Given the description of an element on the screen output the (x, y) to click on. 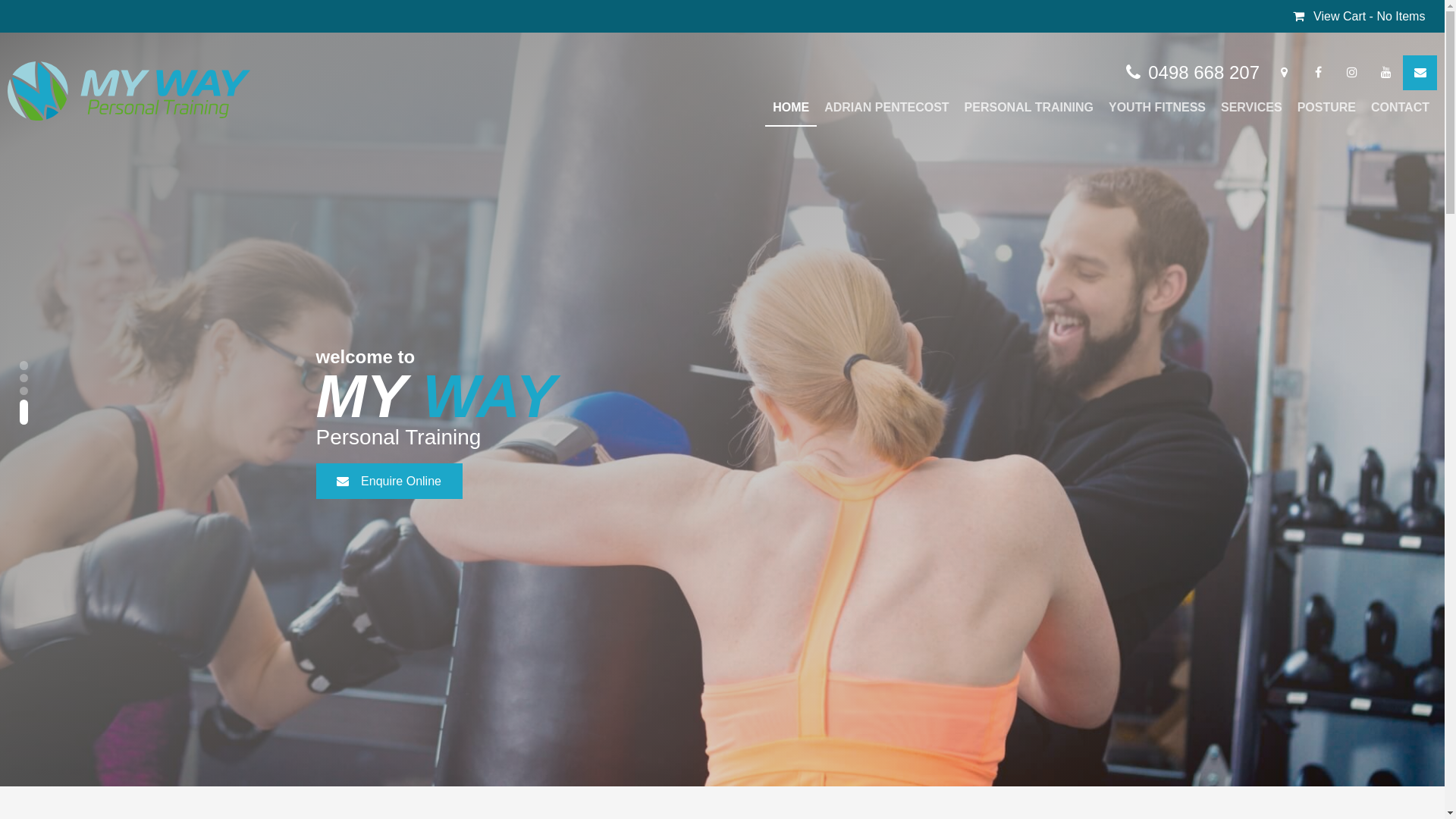
0498 668 207 Element type: text (1192, 72)
HOME Element type: text (790, 108)
View Cart - No Items Element type: text (1358, 16)
PERSONAL TRAINING Element type: text (1029, 108)
YOUTH FITNESS Element type: text (1157, 108)
Enquire Online Element type: text (388, 480)
ADRIAN PENTECOST Element type: text (886, 108)
SERVICES Element type: text (1251, 108)
CONTACT Element type: text (1400, 108)
POSTURE Element type: text (1326, 108)
